Given the description of an element on the screen output the (x, y) to click on. 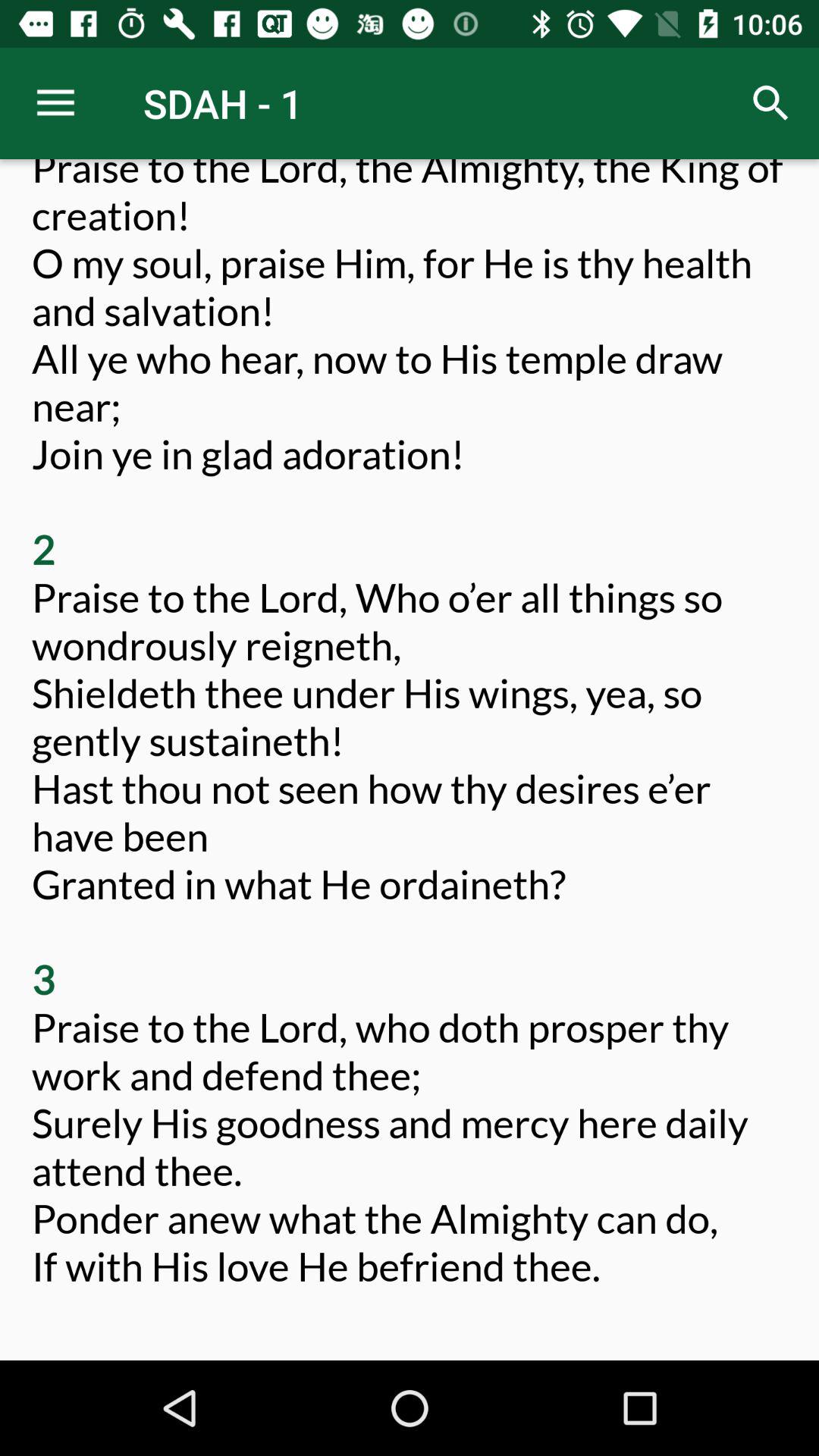
click icon above 001 praise to icon (55, 103)
